Given the description of an element on the screen output the (x, y) to click on. 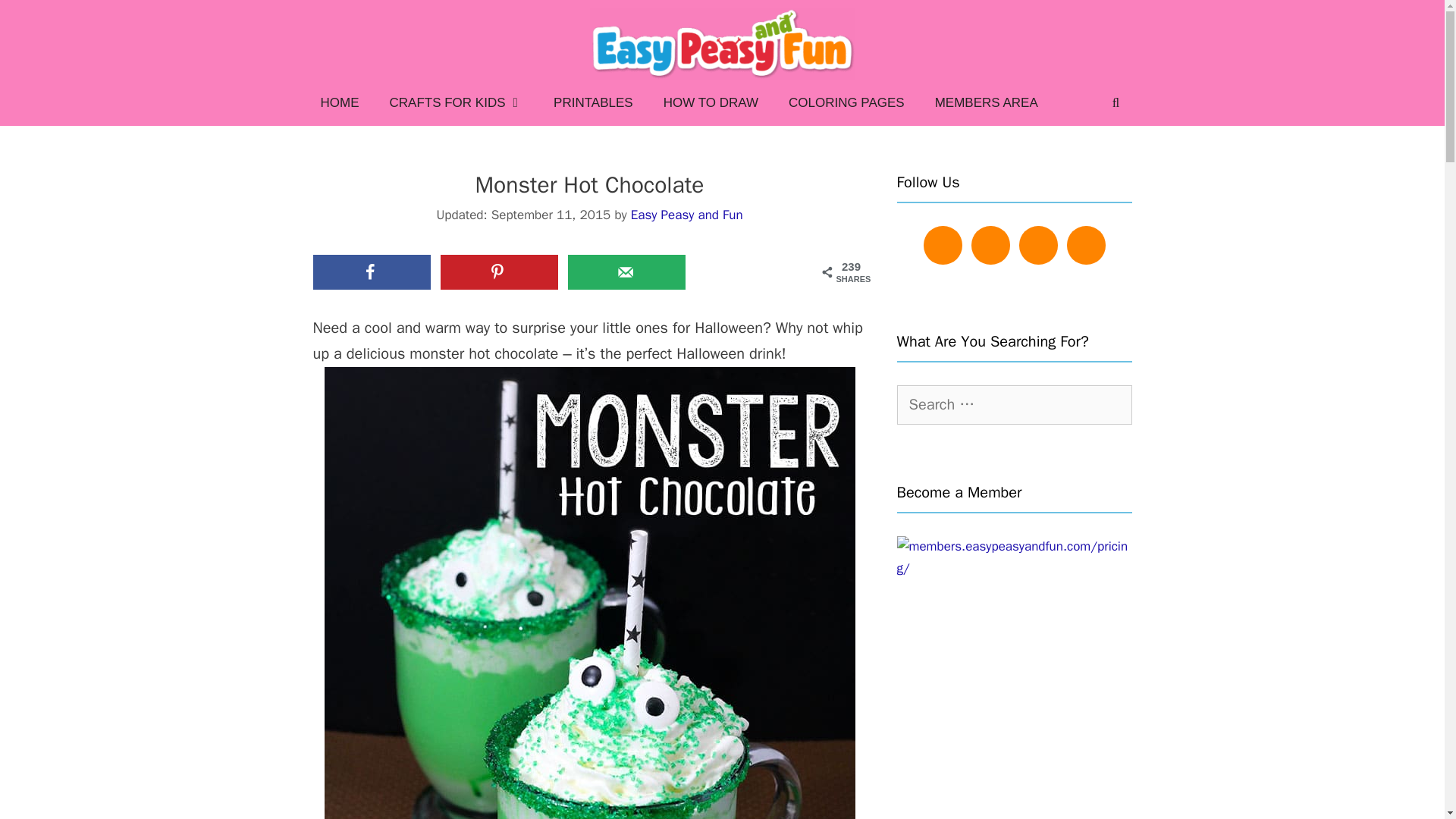
Easy Peasy and Fun (686, 214)
CRAFTS FOR KIDS (456, 103)
HOME (339, 103)
Search for: (1013, 404)
Send over email (626, 271)
MEMBERS AREA (986, 103)
Share on Facebook (371, 271)
PRINTABLES (592, 103)
HOW TO DRAW (710, 103)
Save to Pinterest (499, 271)
